Given the description of an element on the screen output the (x, y) to click on. 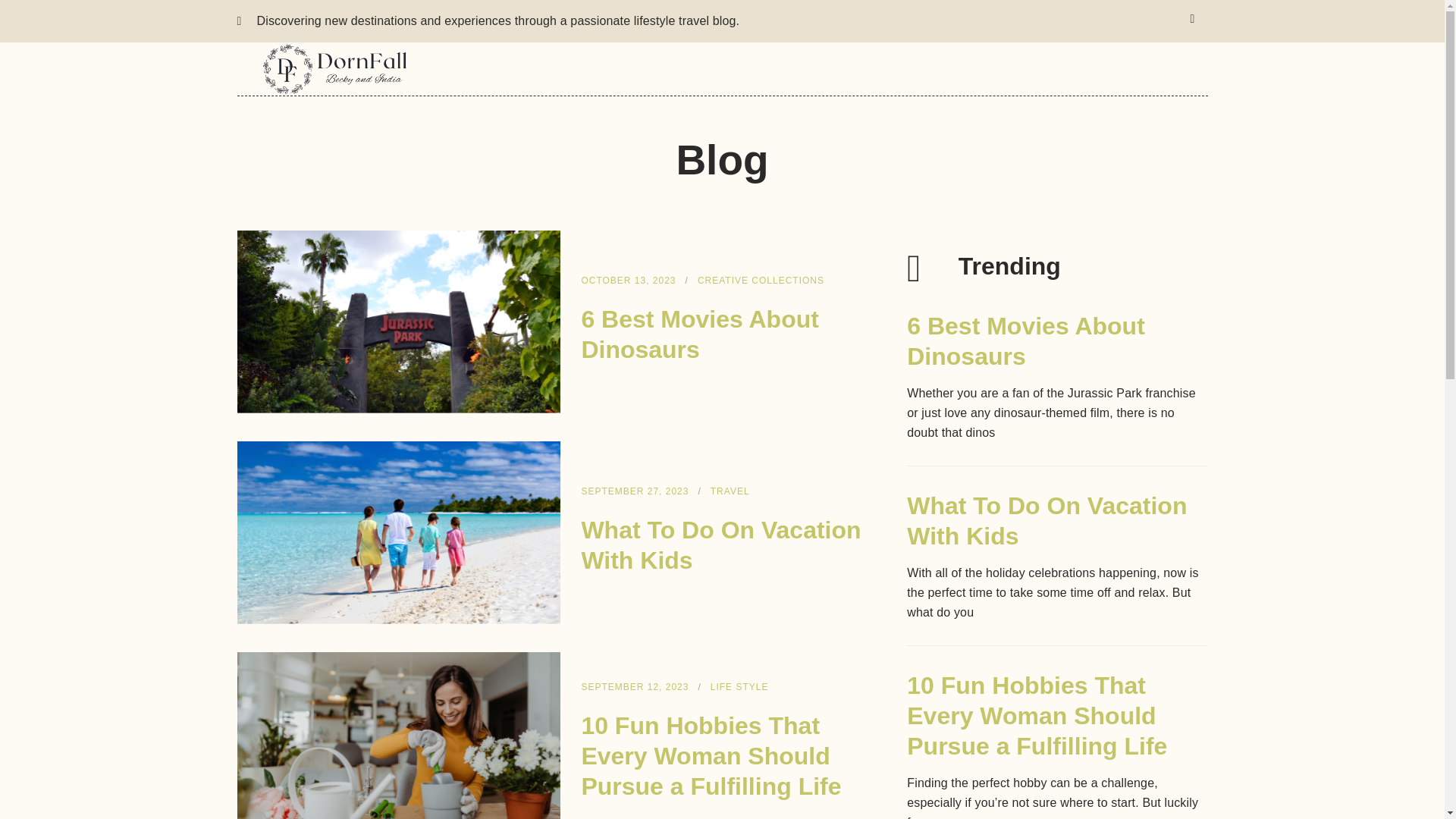
Blog (721, 175)
What To Do On Vacation With Kids (720, 545)
LIFE STYLE (739, 686)
CREATIVE COLLECTIONS (760, 280)
TRAVEL (729, 491)
OCTOBER 13, 2023 (627, 280)
What To Do On Vacation With Kids (1046, 520)
SEPTEMBER 27, 2023 (634, 491)
SEPTEMBER 12, 2023 (634, 686)
6 Best Movies About Dinosaurs (699, 334)
6 Best Movies About Dinosaurs (1025, 341)
Trending (1057, 262)
